Given the description of an element on the screen output the (x, y) to click on. 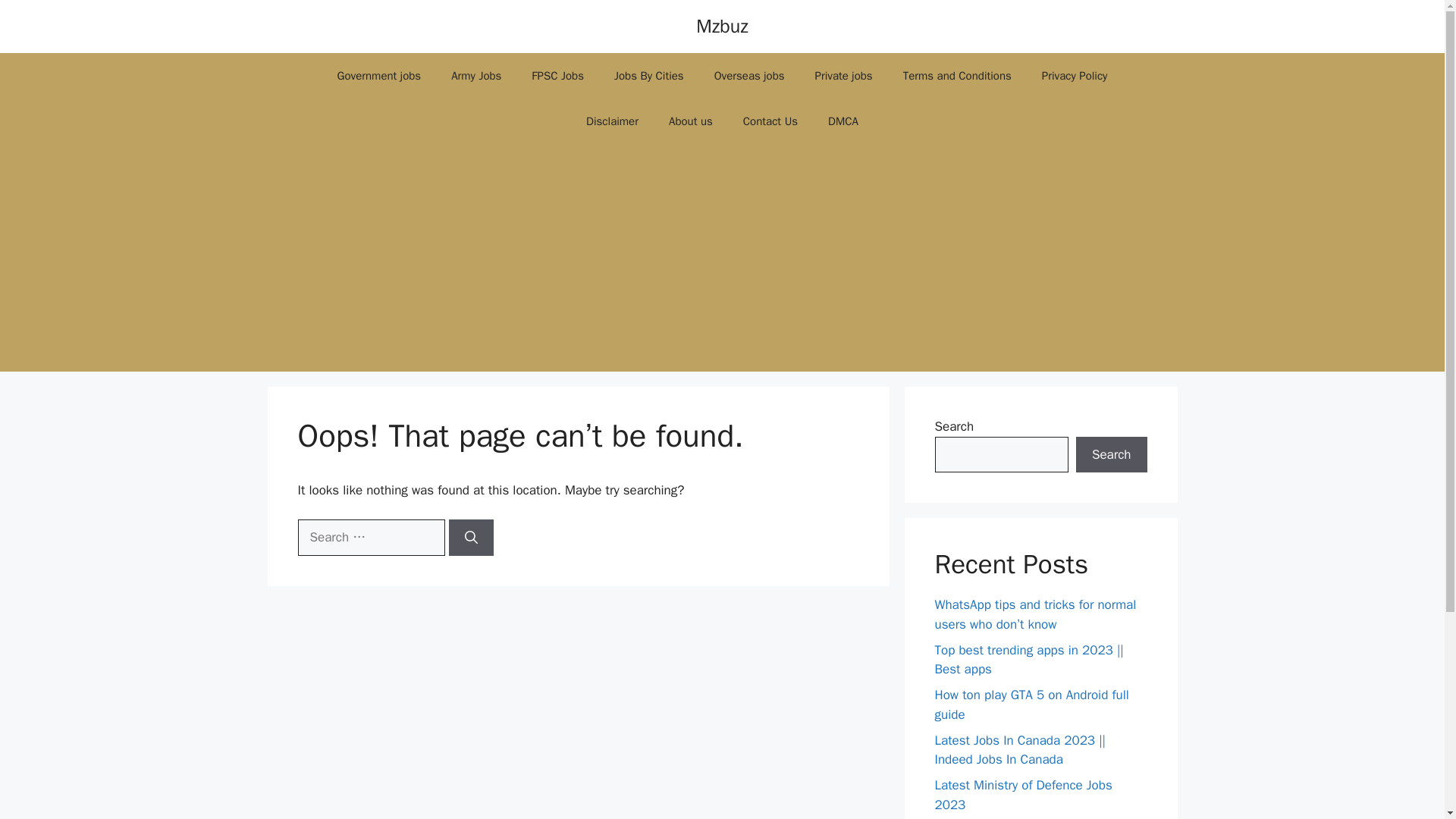
Army Jobs (475, 75)
Privacy Policy (1074, 75)
How ton play GTA 5 on Android full guide (1031, 704)
Disclaimer (611, 121)
Jobs By Cities (648, 75)
Terms and Conditions (957, 75)
Search (1111, 454)
Search for: (370, 537)
Mzbuz (721, 25)
Latest Ministry of Defence Jobs 2023 (1023, 795)
FPSC Jobs (557, 75)
Government jobs (378, 75)
Private jobs (843, 75)
Contact Us (770, 121)
